Given the description of an element on the screen output the (x, y) to click on. 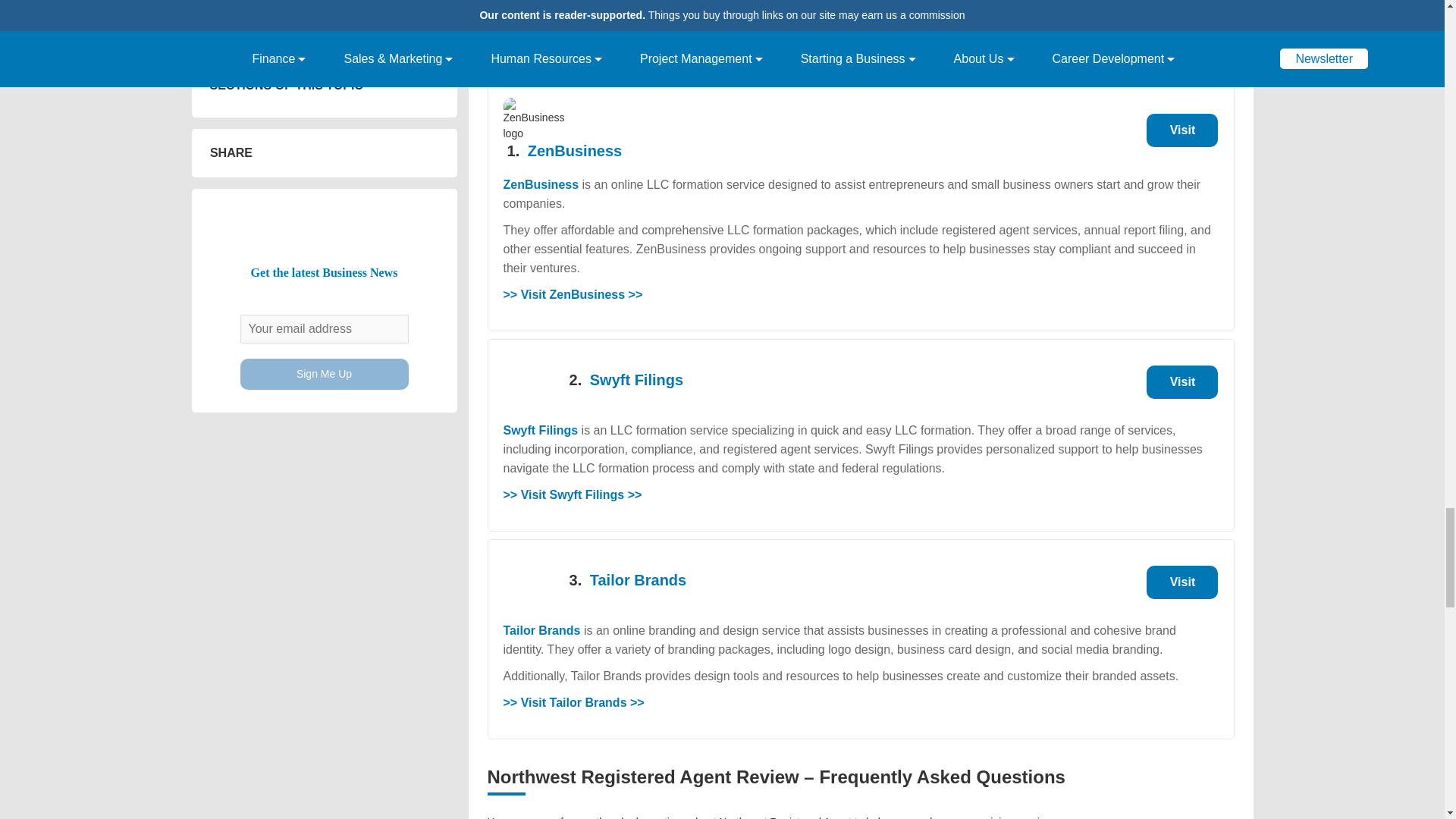
ZenBusiness LLC Service (574, 150)
ZenBusiness LLC Service (1182, 581)
ZenBusiness LLC Service (1182, 381)
ZenBusiness LLC Service (1182, 130)
